Given the description of an element on the screen output the (x, y) to click on. 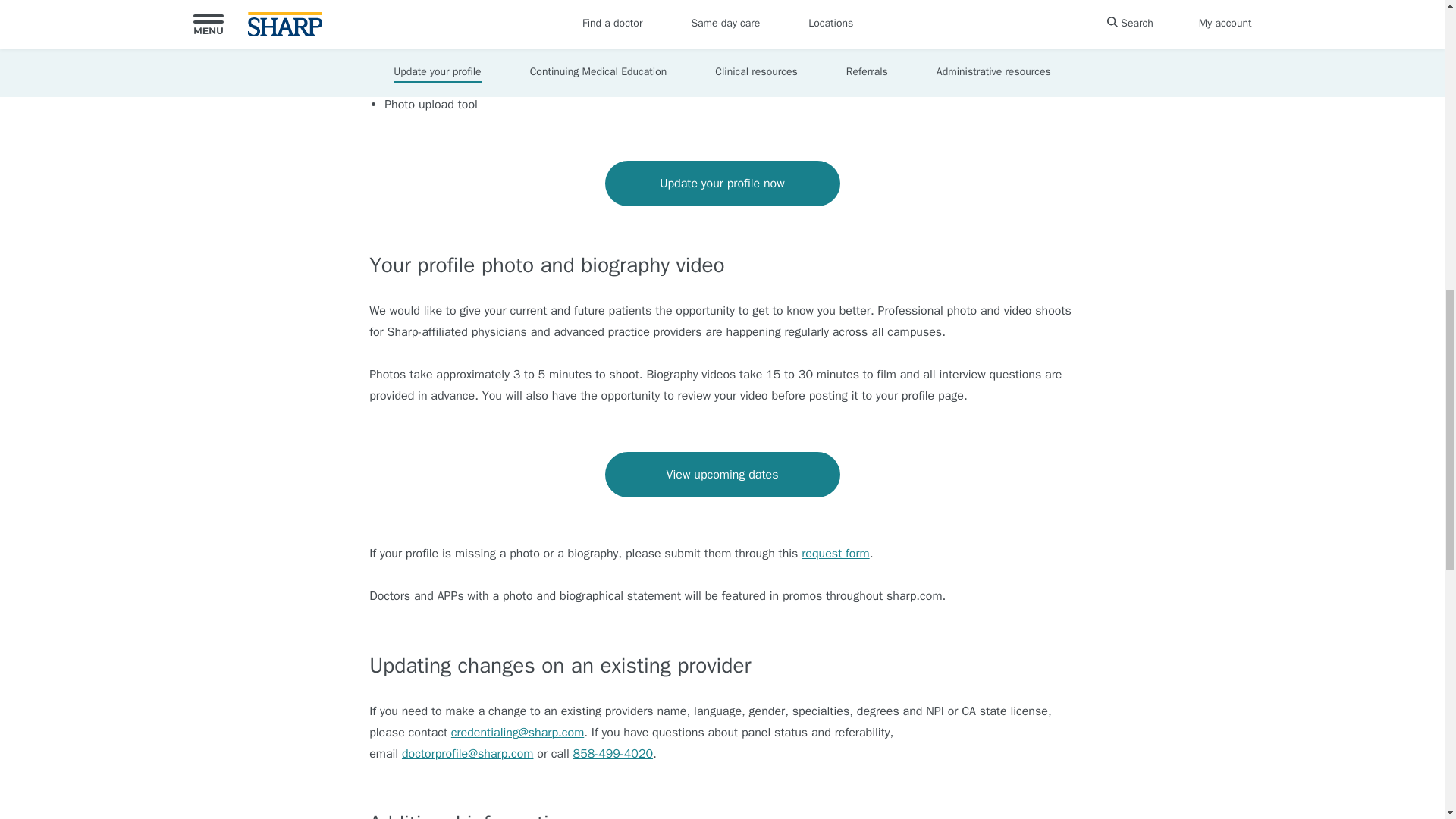
Update your profile now (722, 183)
View upcoming dates (722, 474)
858-499-4020 (613, 753)
request form (835, 553)
